Given the description of an element on the screen output the (x, y) to click on. 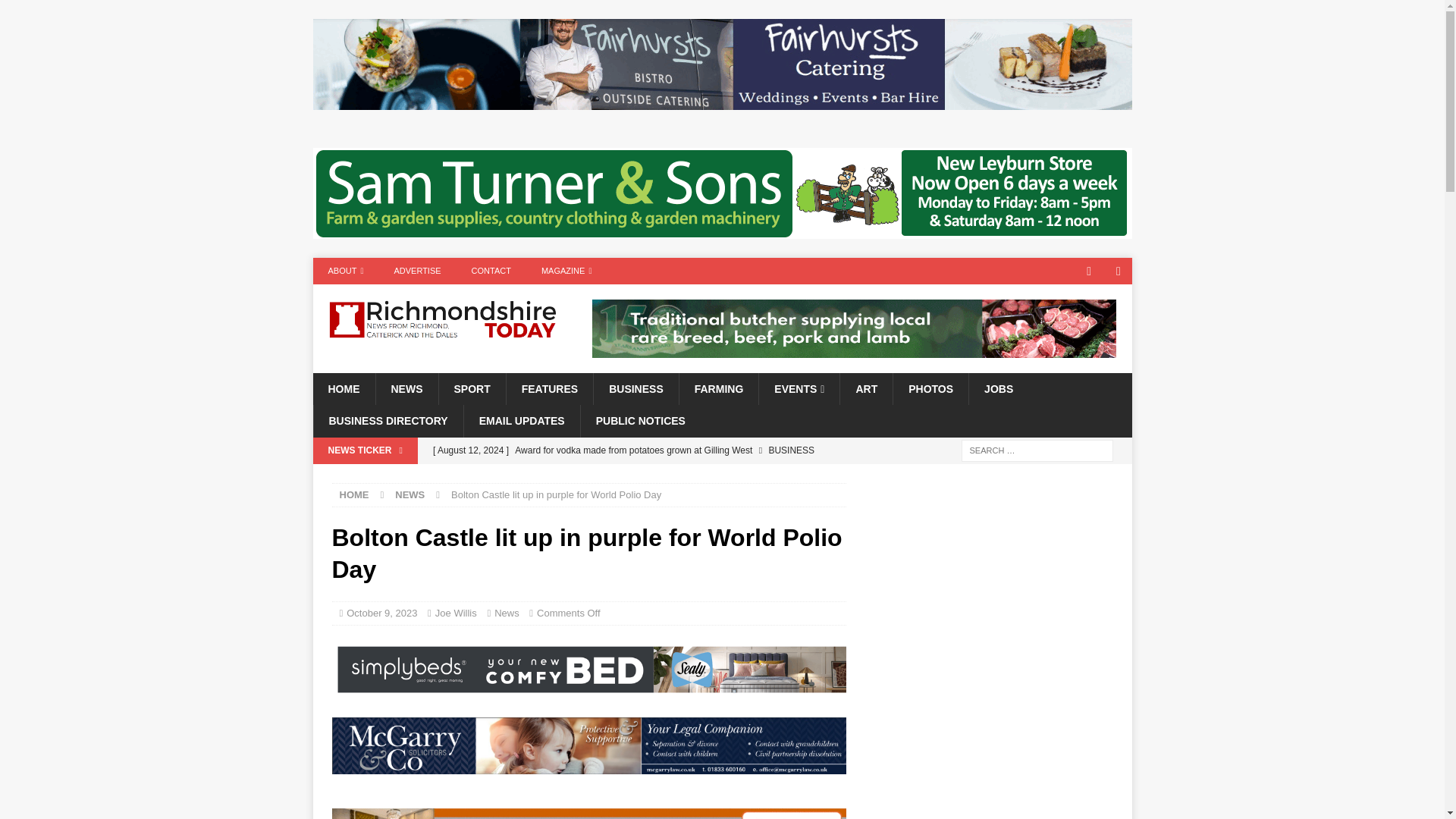
FARMING (718, 388)
FEATURES (548, 388)
BUSINESS DIRECTORY (388, 420)
PHOTOS (930, 388)
Richmondshire lift first silverware of season (634, 475)
PUBLIC NOTICES (639, 420)
BUSINESS (635, 388)
HOME (354, 494)
CONTACT (491, 270)
ART (866, 388)
